Given the description of an element on the screen output the (x, y) to click on. 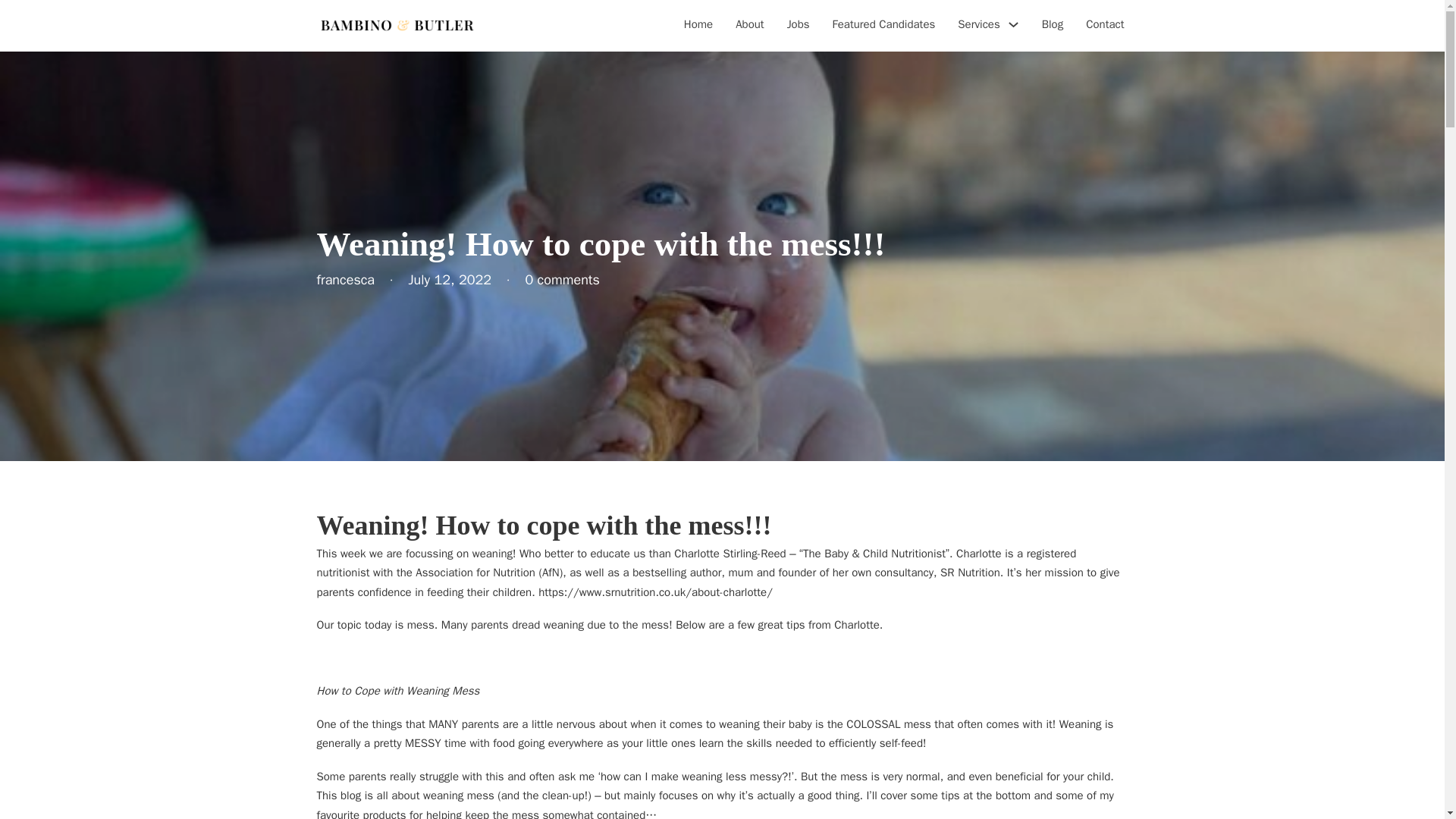
Featured Candidates (884, 25)
Jobs (798, 25)
About (748, 25)
Contact (1105, 25)
Home (698, 25)
Blog (1052, 25)
Services (978, 25)
